Given the description of an element on the screen output the (x, y) to click on. 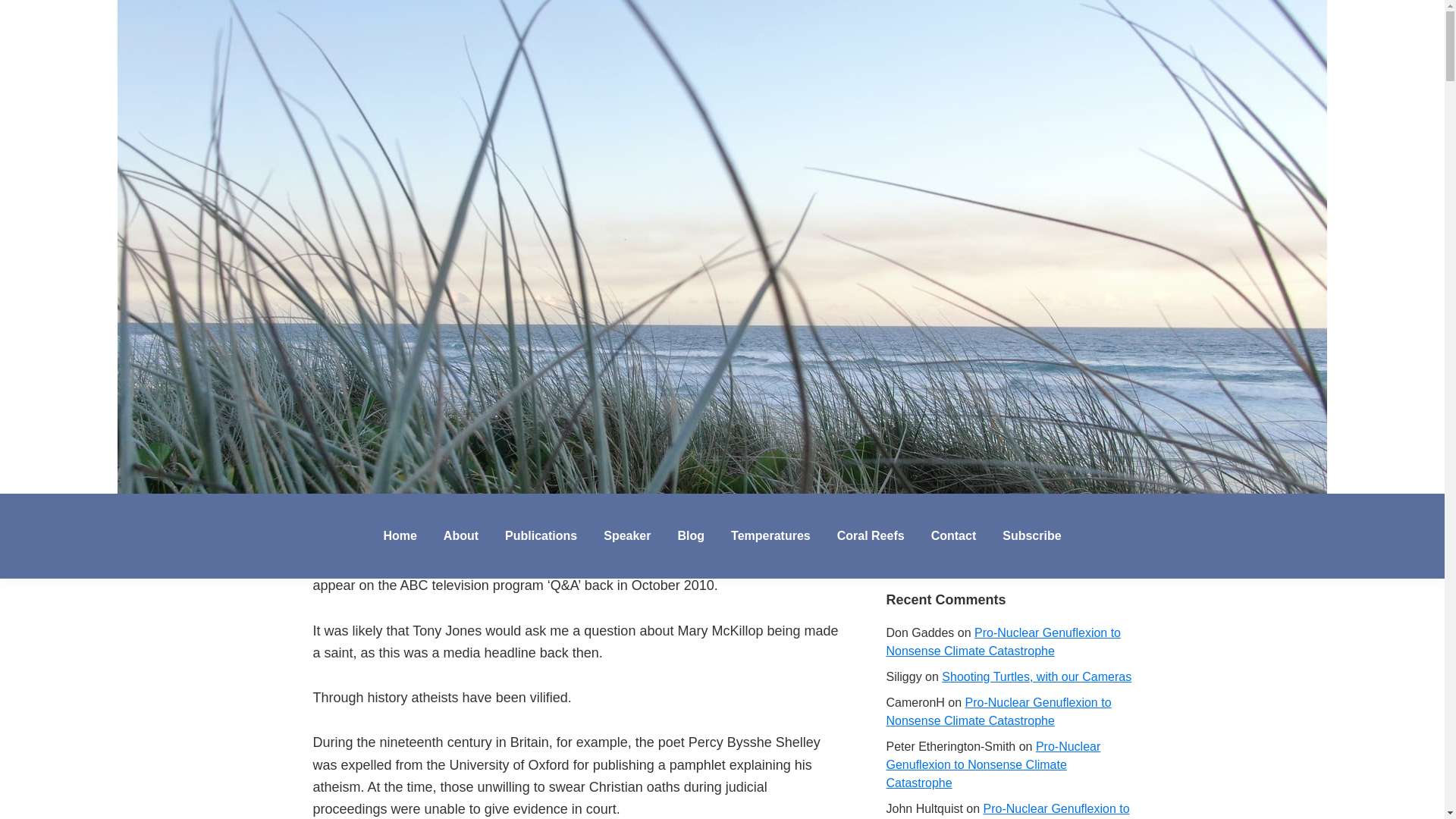
Subscribe (1031, 535)
Jennifer Marohasy (150, 508)
Blog (690, 535)
jennifer (418, 508)
Publications (540, 535)
Speaker (627, 535)
Home (399, 535)
Contact (954, 535)
Coral Reefs (870, 535)
